Given the description of an element on the screen output the (x, y) to click on. 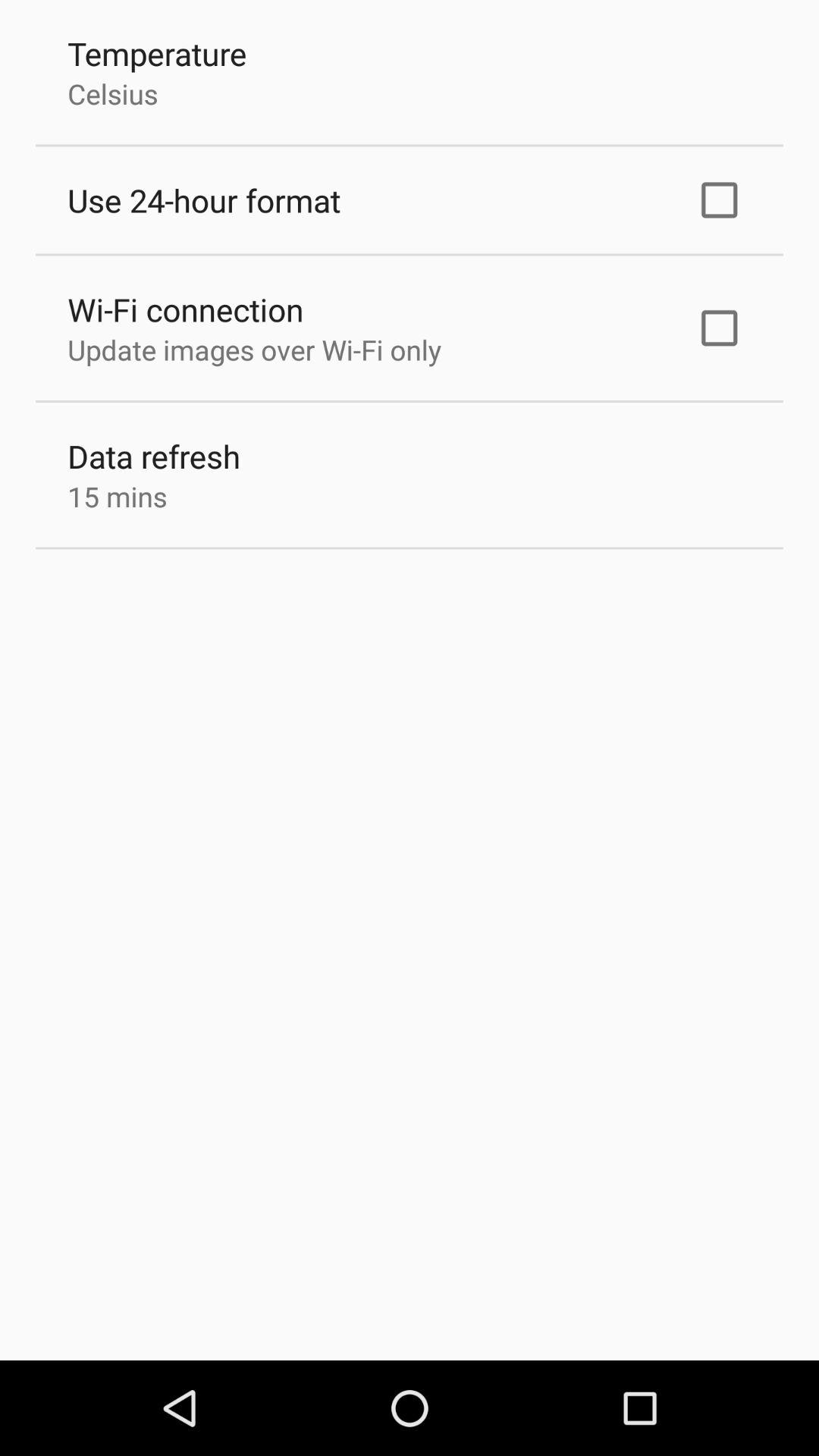
open icon below the wi-fi connection icon (254, 349)
